Given the description of an element on the screen output the (x, y) to click on. 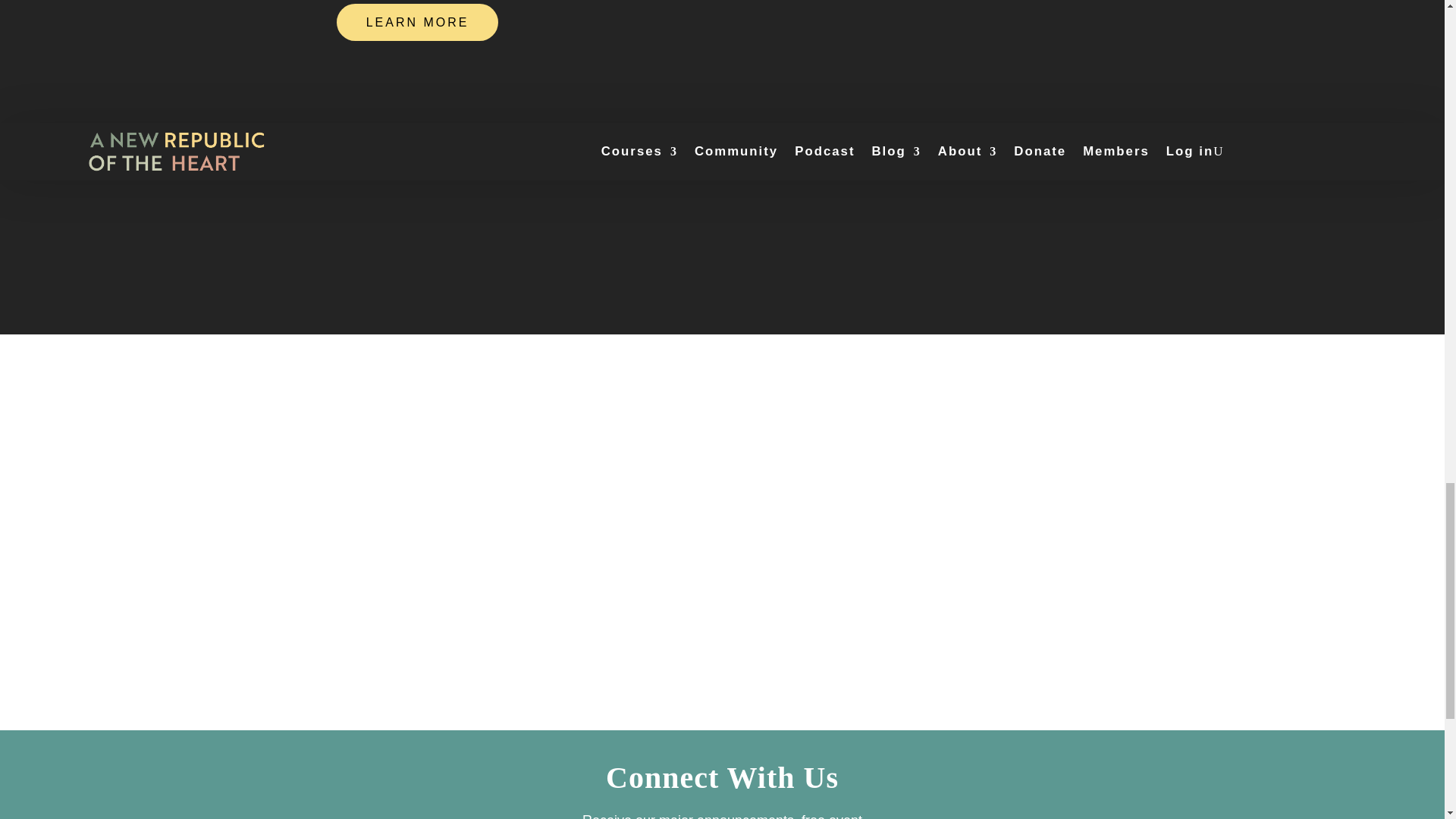
LEARN MORE (416, 22)
